Given the description of an element on the screen output the (x, y) to click on. 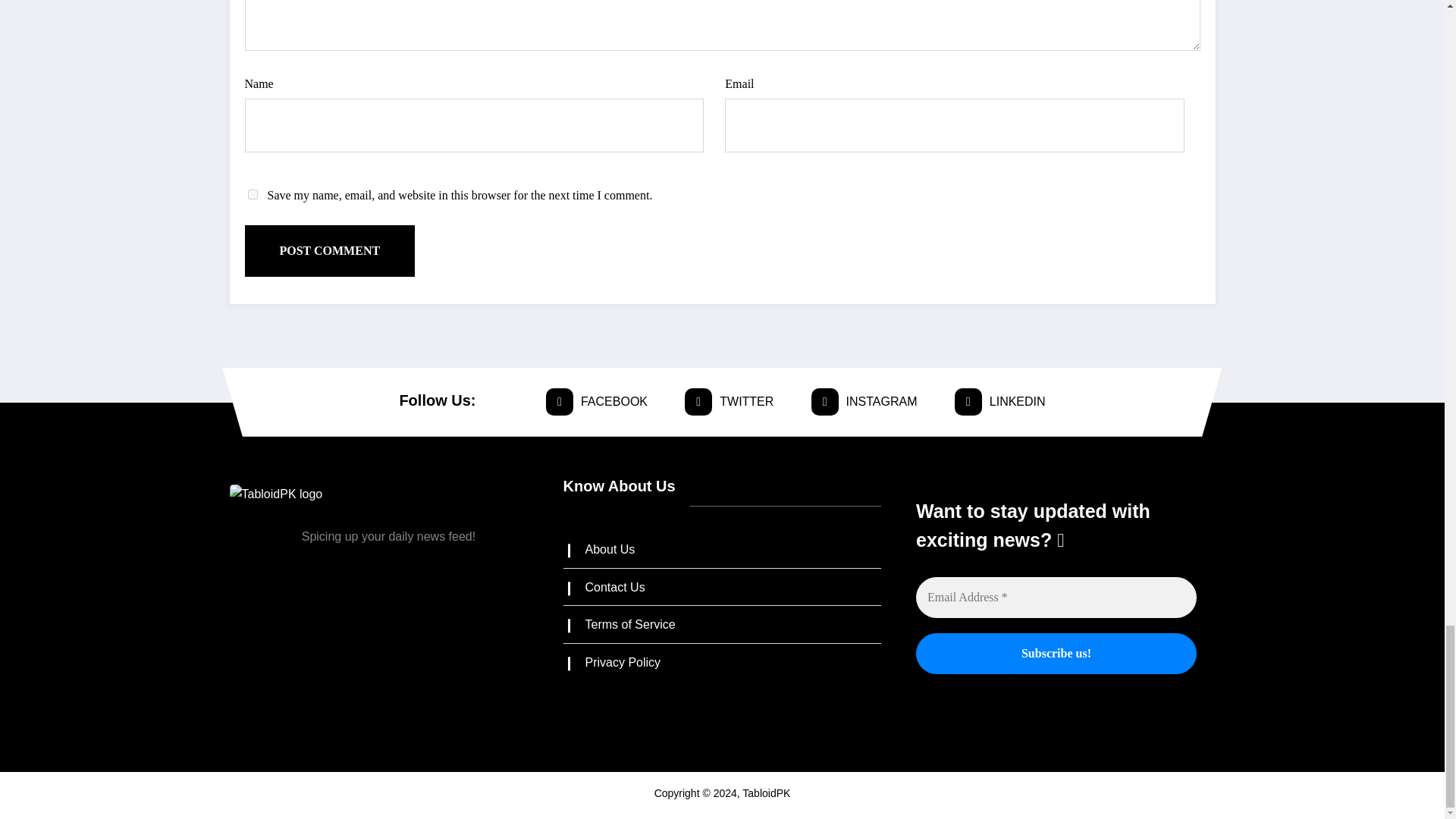
Post Comment (329, 250)
yes (252, 194)
Subscribe us! (1055, 653)
